Given the description of an element on the screen output the (x, y) to click on. 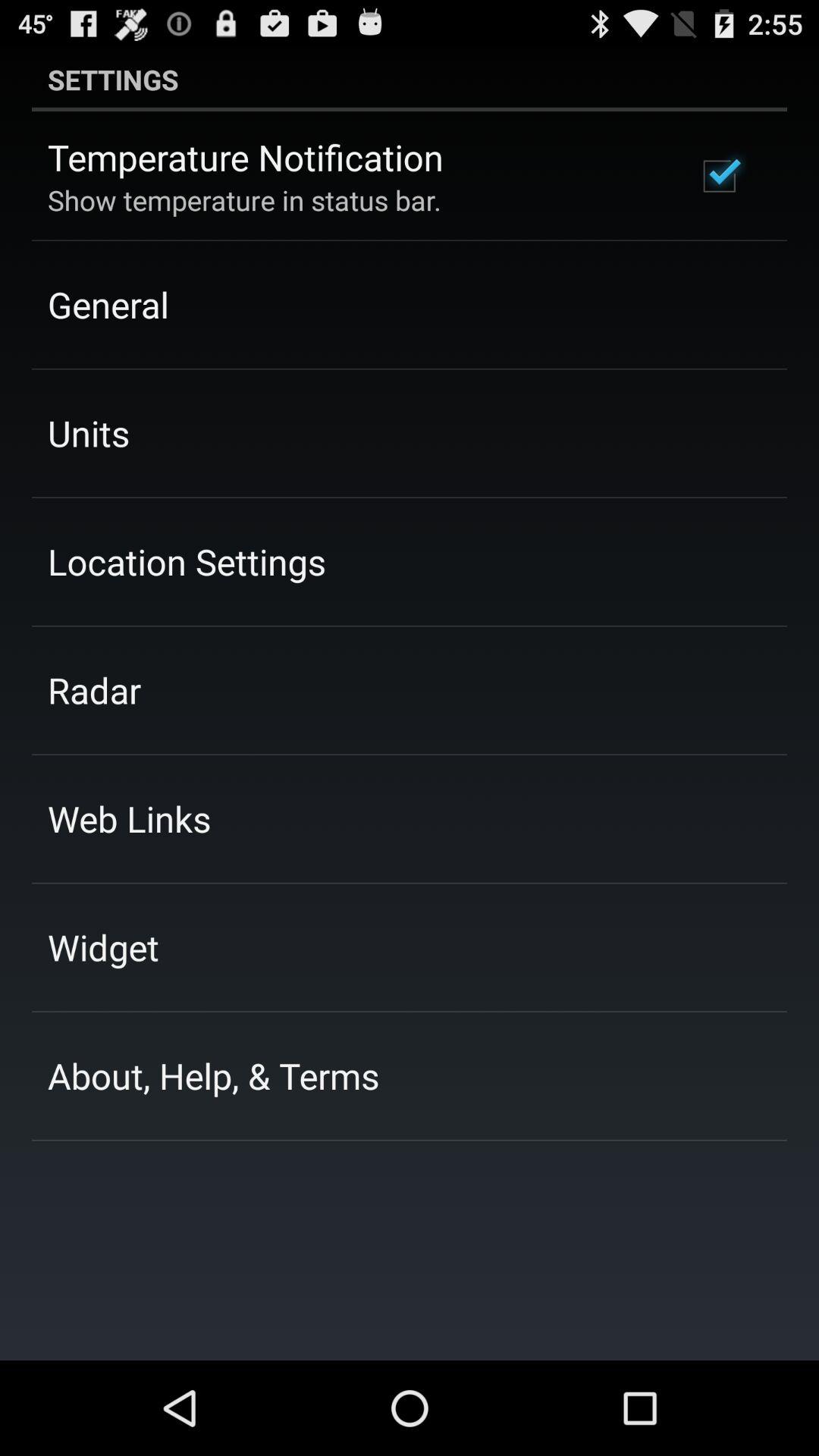
press item below the web links app (103, 947)
